Given the description of an element on the screen output the (x, y) to click on. 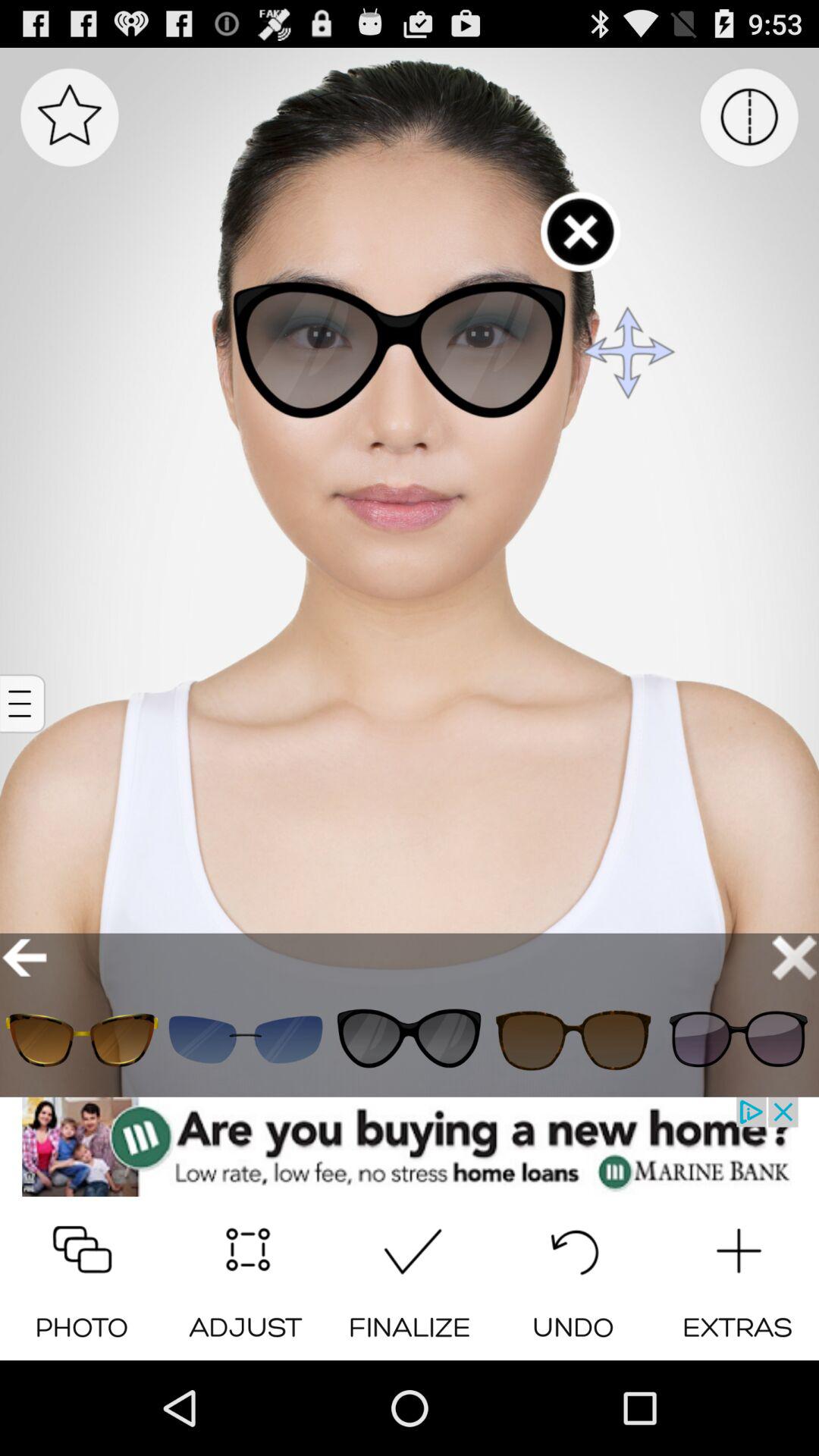
closebutton (794, 957)
